Given the description of an element on the screen output the (x, y) to click on. 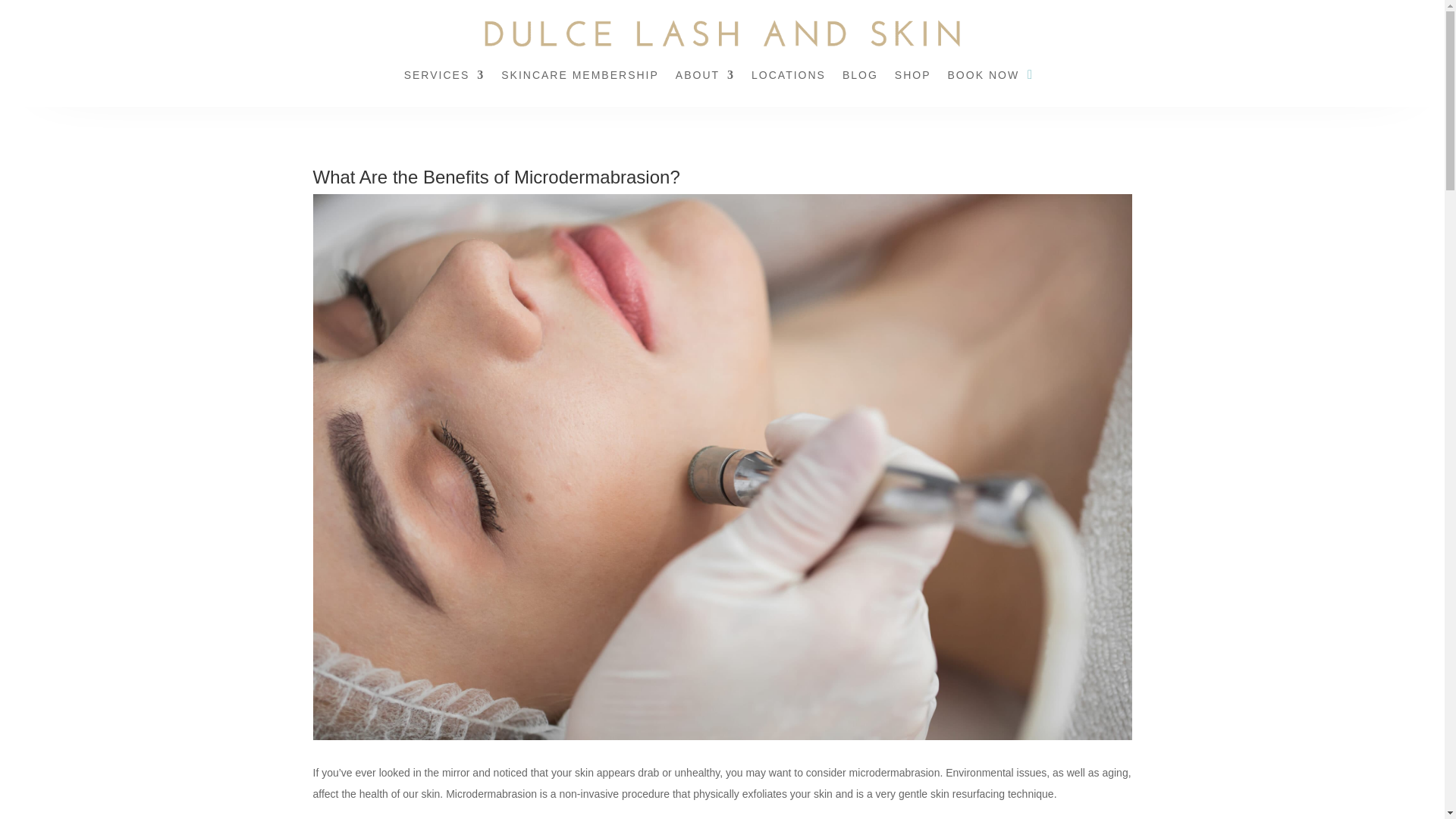
SHOP (913, 77)
SERVICES (444, 77)
newlogo (721, 33)
BOOK NOW (983, 77)
LOCATIONS (788, 77)
ABOUT (705, 77)
SKINCARE MEMBERSHIP (579, 77)
BLOG (860, 77)
